Given the description of an element on the screen output the (x, y) to click on. 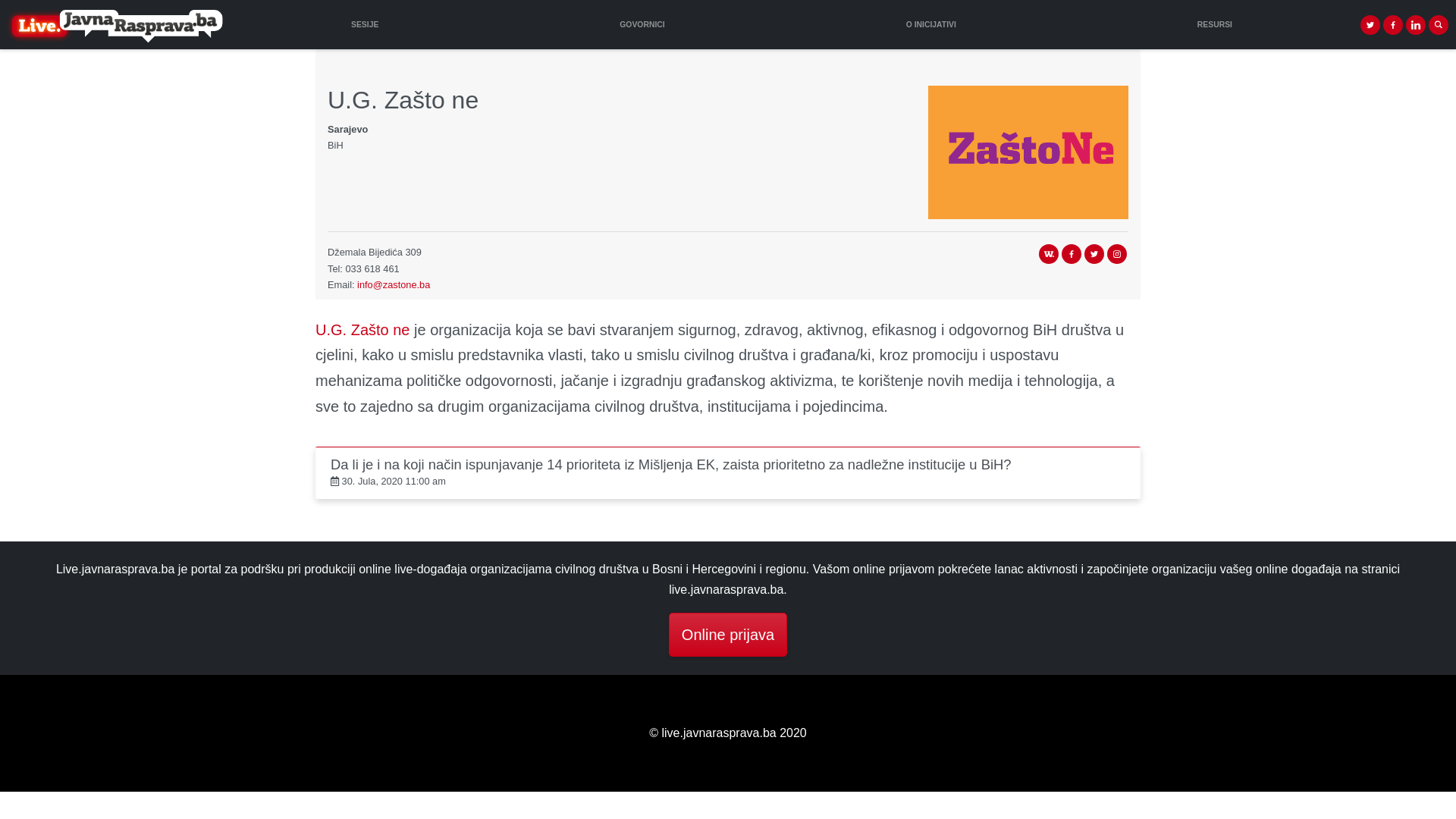
Online prijava Element type: text (727, 634)
O INICIJATIVI Element type: text (930, 24)
live.javnarasprava.ba Element type: hover (112, 24)
GOVORNICI Element type: text (642, 24)
RESURSI Element type: text (1214, 24)
Instagram Element type: hover (1116, 253)
info@zastone.ba Element type: text (393, 284)
Pretraga Element type: hover (1438, 24)
Website Element type: hover (1048, 253)
SESIJE Element type: text (364, 24)
Facebook Element type: hover (1071, 253)
live.javnarasprava.ba Element type: hover (115, 24)
Twitter Element type: hover (1094, 253)
